Given the description of an element on the screen output the (x, y) to click on. 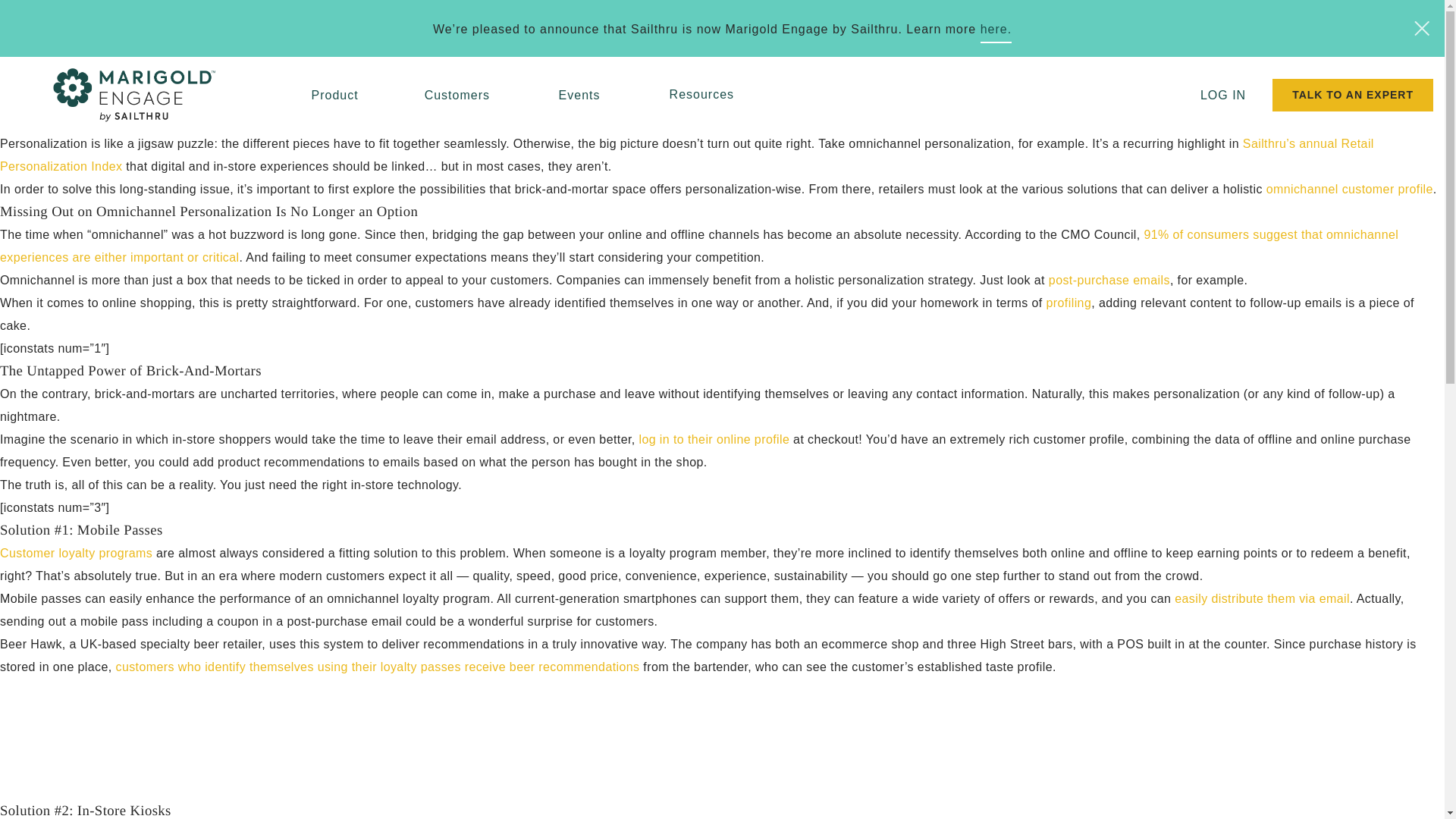
TALK TO AN EXPERT (1352, 94)
here. (995, 30)
Events (579, 94)
log in to their online profile (714, 439)
Customer loyalty programs (76, 553)
profiling (1069, 302)
LOG IN (1222, 94)
Customers (457, 94)
x (1421, 28)
Product (333, 94)
easily distribute them via email (1261, 598)
omnichannel customer profile (1349, 188)
post-purchase emails (1109, 279)
Resources (701, 94)
